Given the description of an element on the screen output the (x, y) to click on. 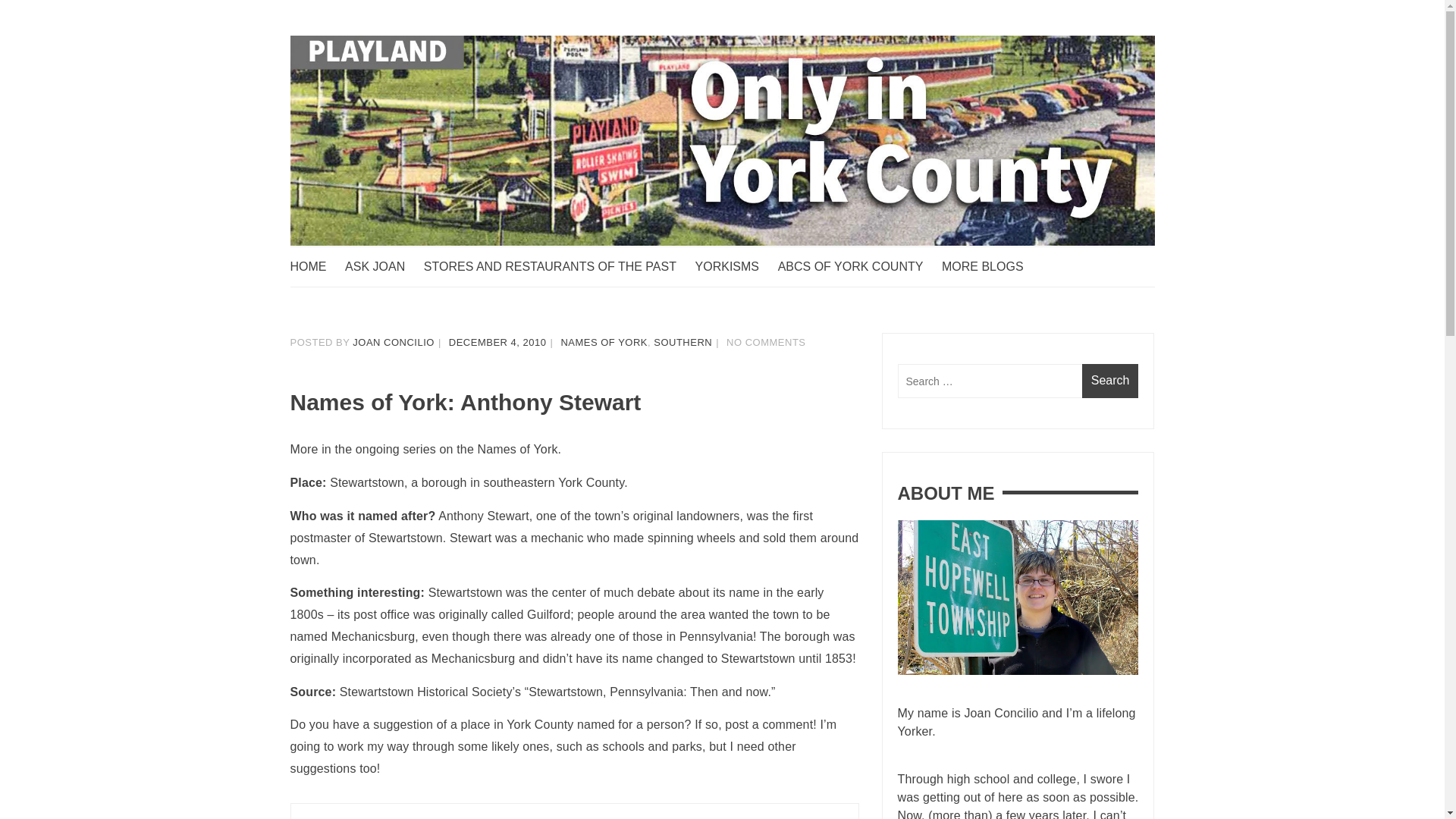
ASK JOAN (382, 266)
YORKISMS (734, 266)
DECEMBER 4, 2010 (497, 342)
HOME (314, 266)
Search (1109, 380)
Search (1109, 380)
NAMES OF YORK (603, 342)
STORES AND RESTAURANTS OF THE PAST (557, 266)
JOAN CONCILIO (392, 342)
SOUTHERN (682, 342)
MORE BLOGS (990, 266)
ABCS OF YORK COUNTY (858, 266)
Only in York County (405, 275)
